Given the description of an element on the screen output the (x, y) to click on. 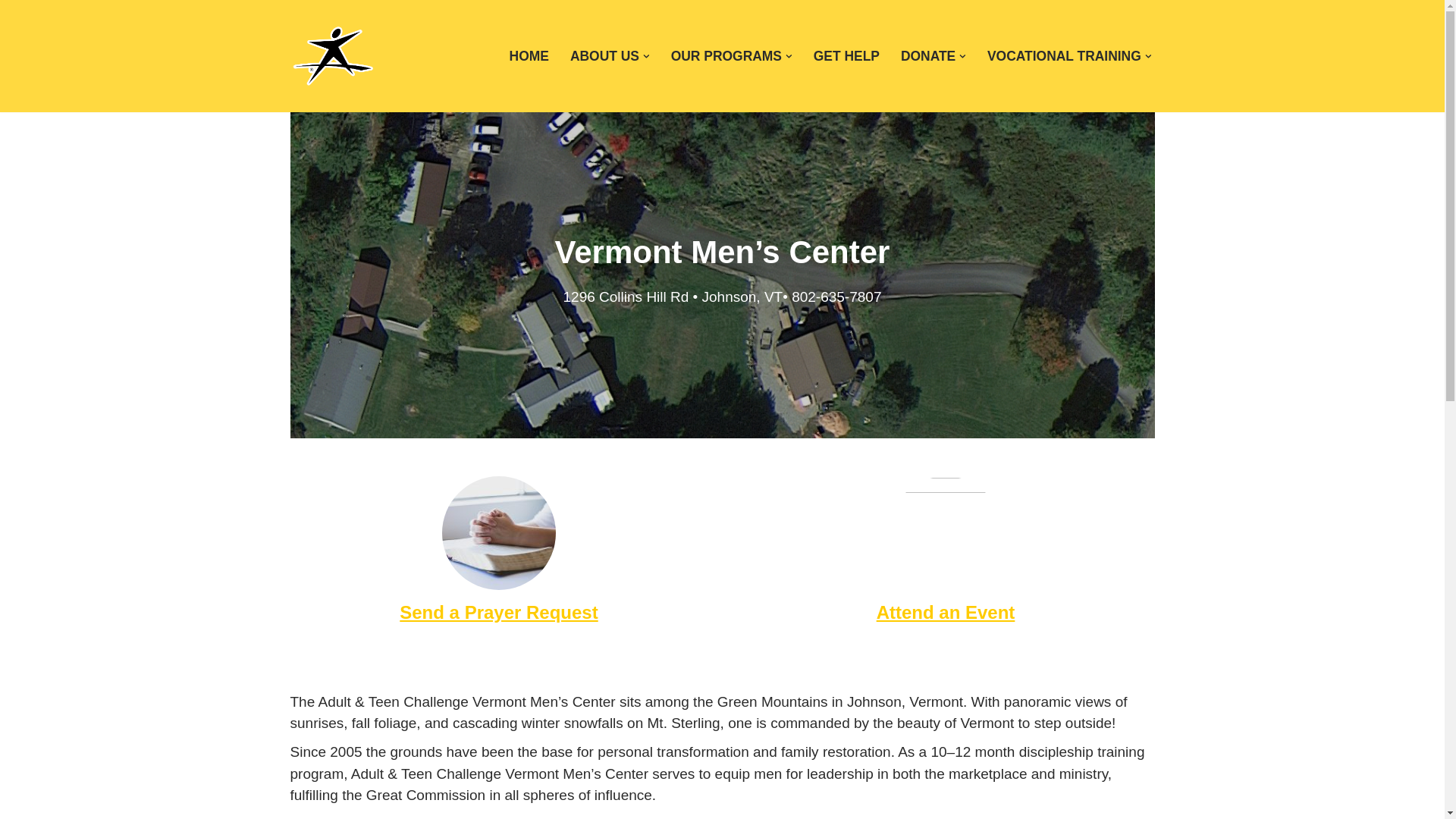
HOME (528, 55)
VOCATIONAL TRAINING (1064, 55)
GET HELP (846, 55)
Skip to content (11, 31)
OUR PROGRAMS (726, 55)
ABOUT US (604, 55)
DONATE (928, 55)
